Given the description of an element on the screen output the (x, y) to click on. 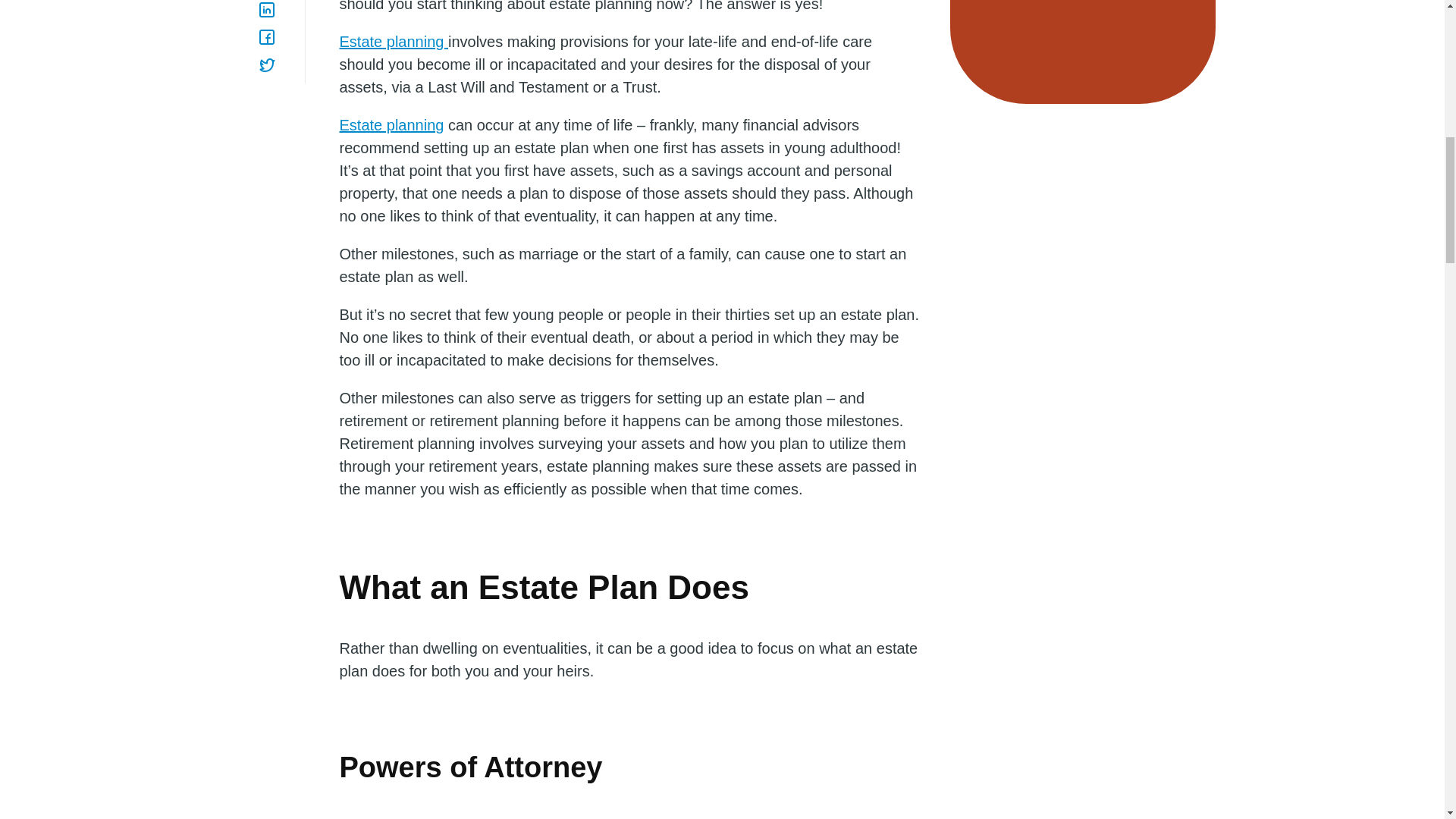
Form 0 (1082, 33)
